Given the description of an element on the screen output the (x, y) to click on. 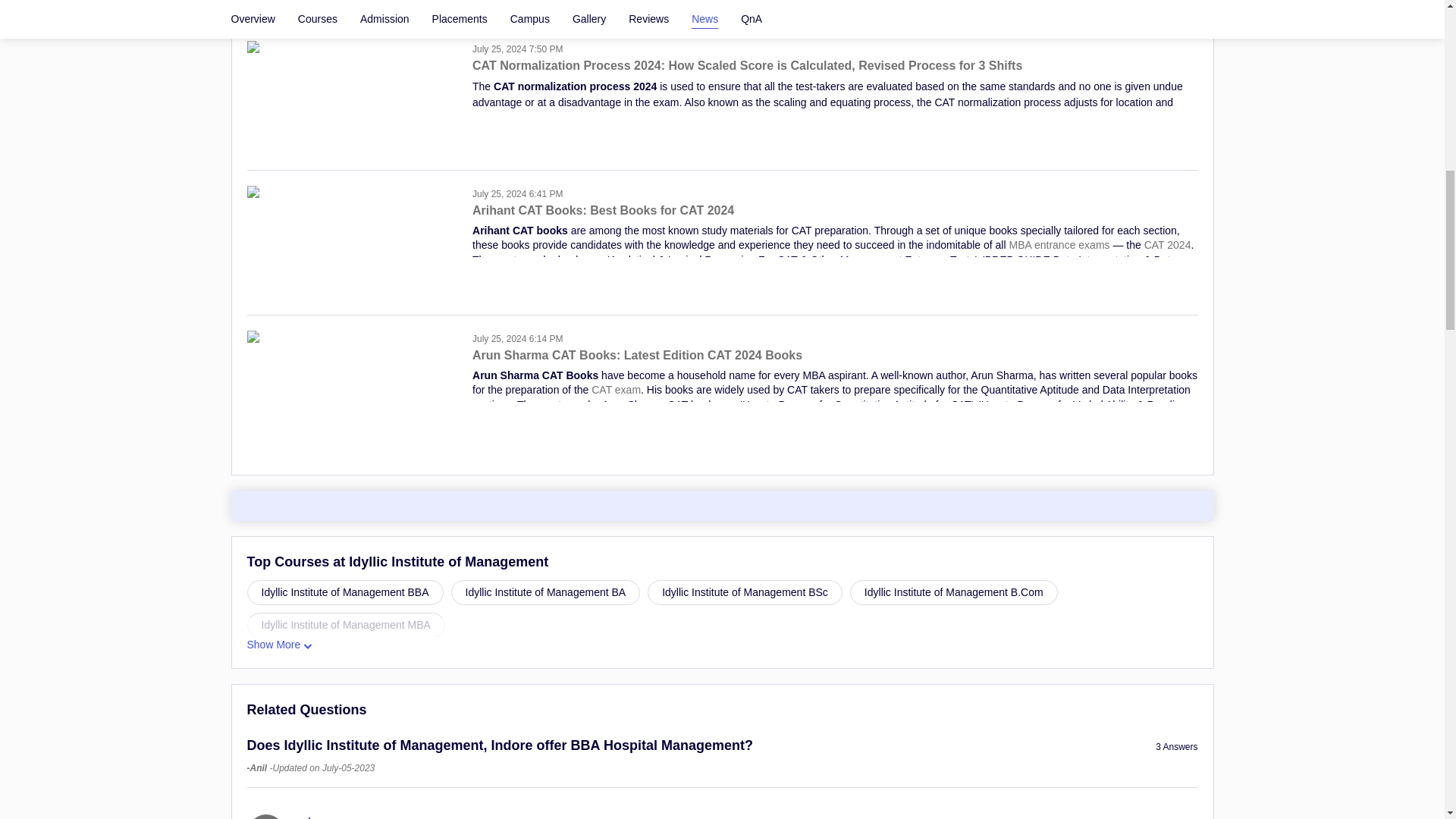
CAT 2024 (1167, 244)
Idyllic Institute of Management B.Com (954, 592)
Idyllic Institute of Management BSc (745, 592)
Idyllic Institute of Management BBA (345, 592)
MBA entrance exams (1059, 244)
Idyllic Institute of Management B.Com (954, 592)
Idyllic Institute of Management BSc (745, 592)
Idyllic Institute of Management BA (544, 592)
CAT exam (615, 389)
Idyllic Institute of Management MBA (346, 625)
Idyllic Institute of Management BBA (345, 592)
Idyllic Institute of Management MBA (346, 625)
Arun Sharma CAT Books: Latest Edition CAT 2024 Books (833, 362)
Arihant CAT Books: Best Books for CAT 2024 (833, 217)
